Given the description of an element on the screen output the (x, y) to click on. 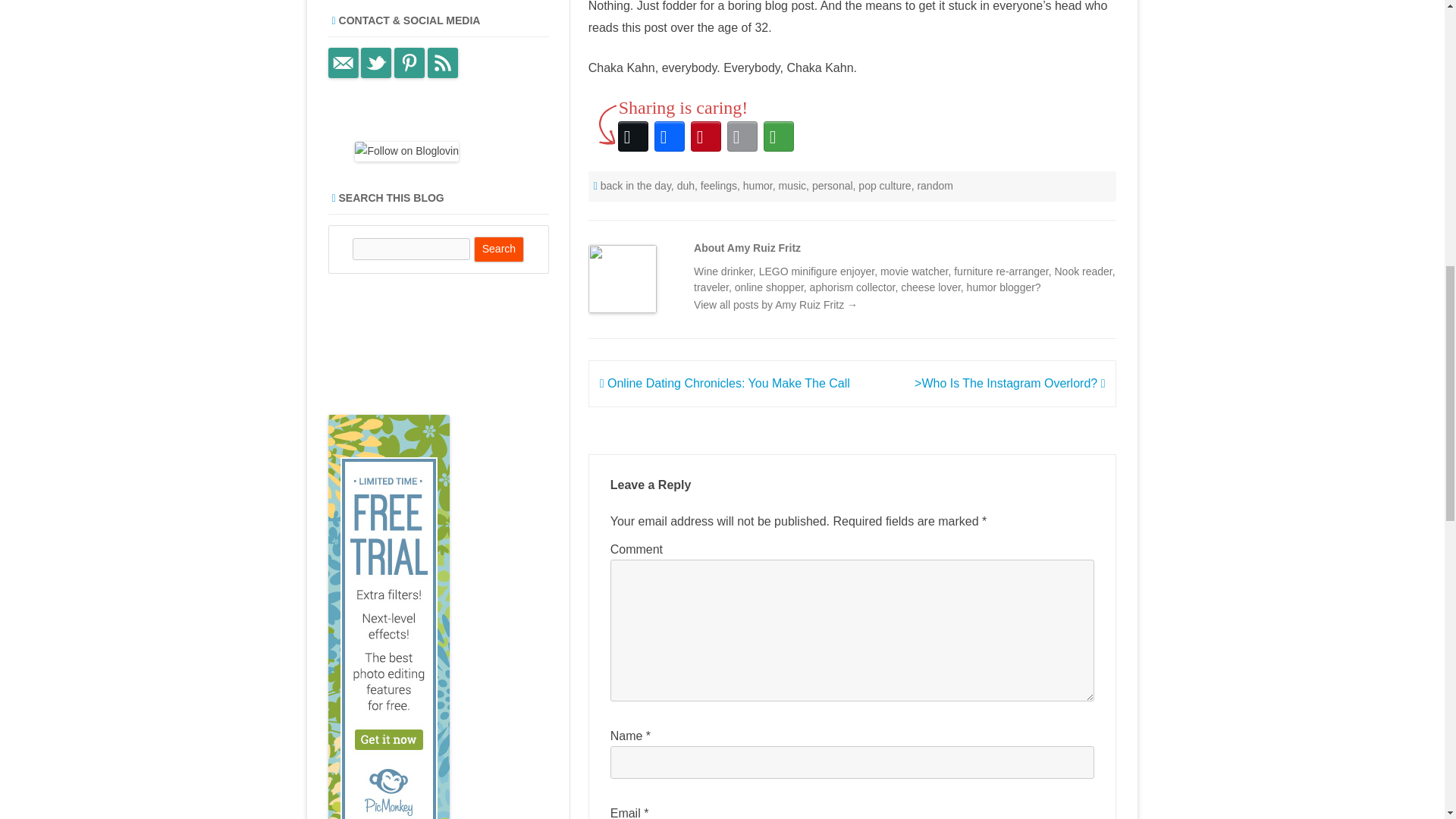
duh (685, 185)
music (792, 185)
feelings (718, 185)
personal (832, 185)
Facebook (668, 135)
Search (499, 249)
More Options (778, 135)
back in the day (635, 185)
random (934, 185)
humor (757, 185)
Pinterest (705, 135)
pop culture (885, 185)
Email This (741, 135)
